Given the description of an element on the screen output the (x, y) to click on. 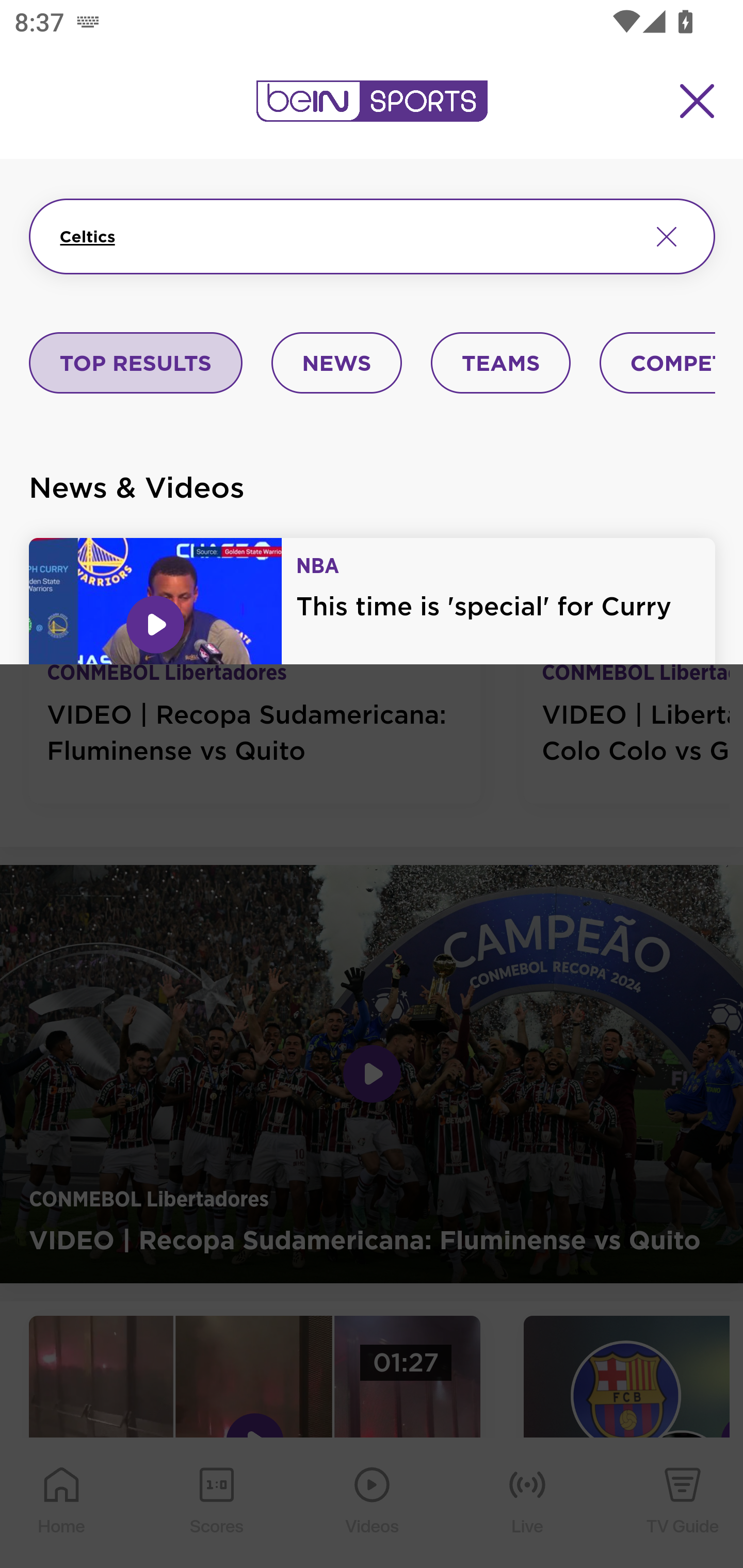
en-us?platform=mobile_android bein logo (371, 101)
Close Menu Icon (697, 101)
TOP RESULTS (135, 363)
NEWS (336, 363)
TEAMS (500, 363)
COMPETITIONS (657, 363)
